Given the description of an element on the screen output the (x, y) to click on. 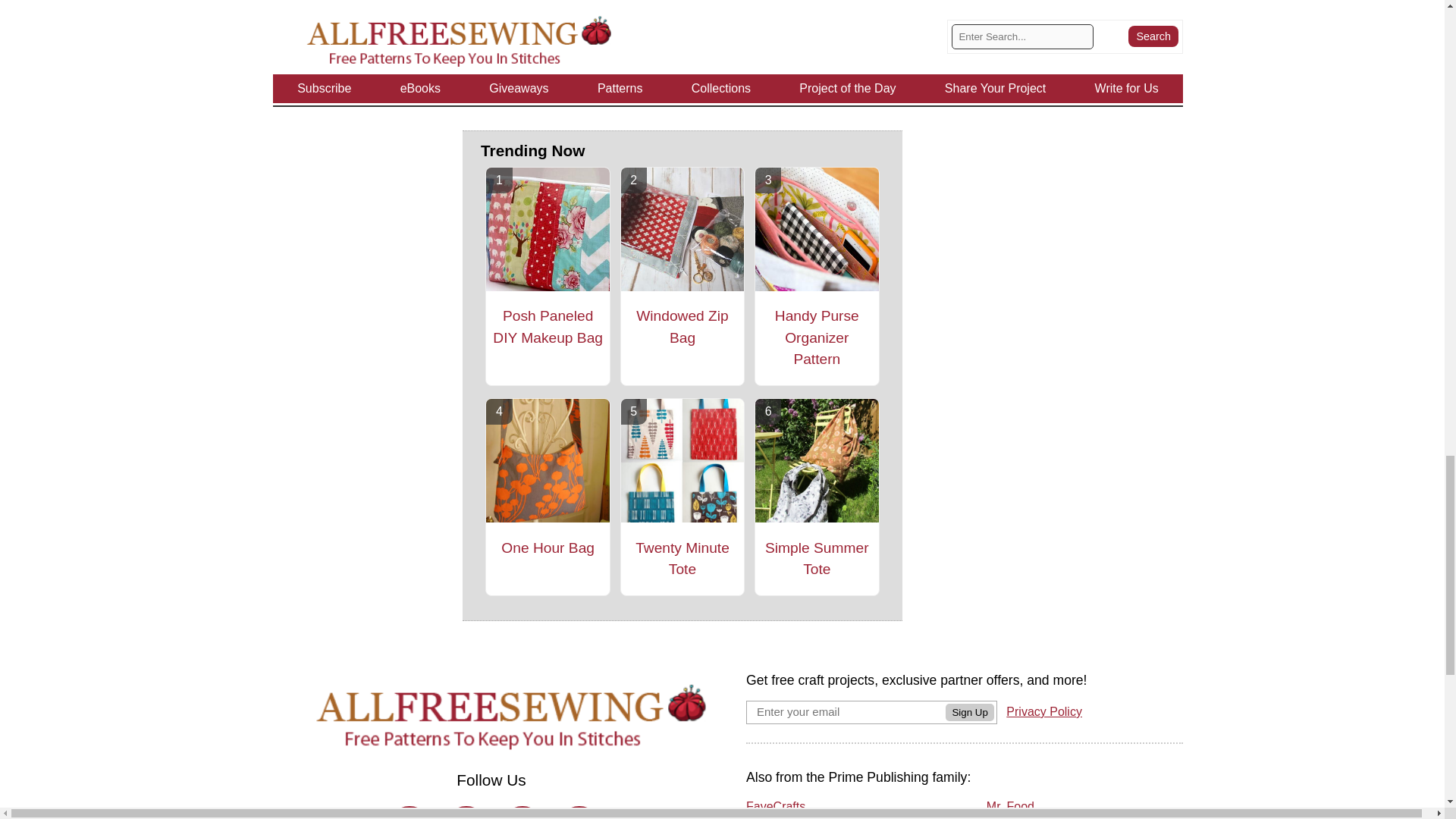
Submit (681, 57)
